Given the description of an element on the screen output the (x, y) to click on. 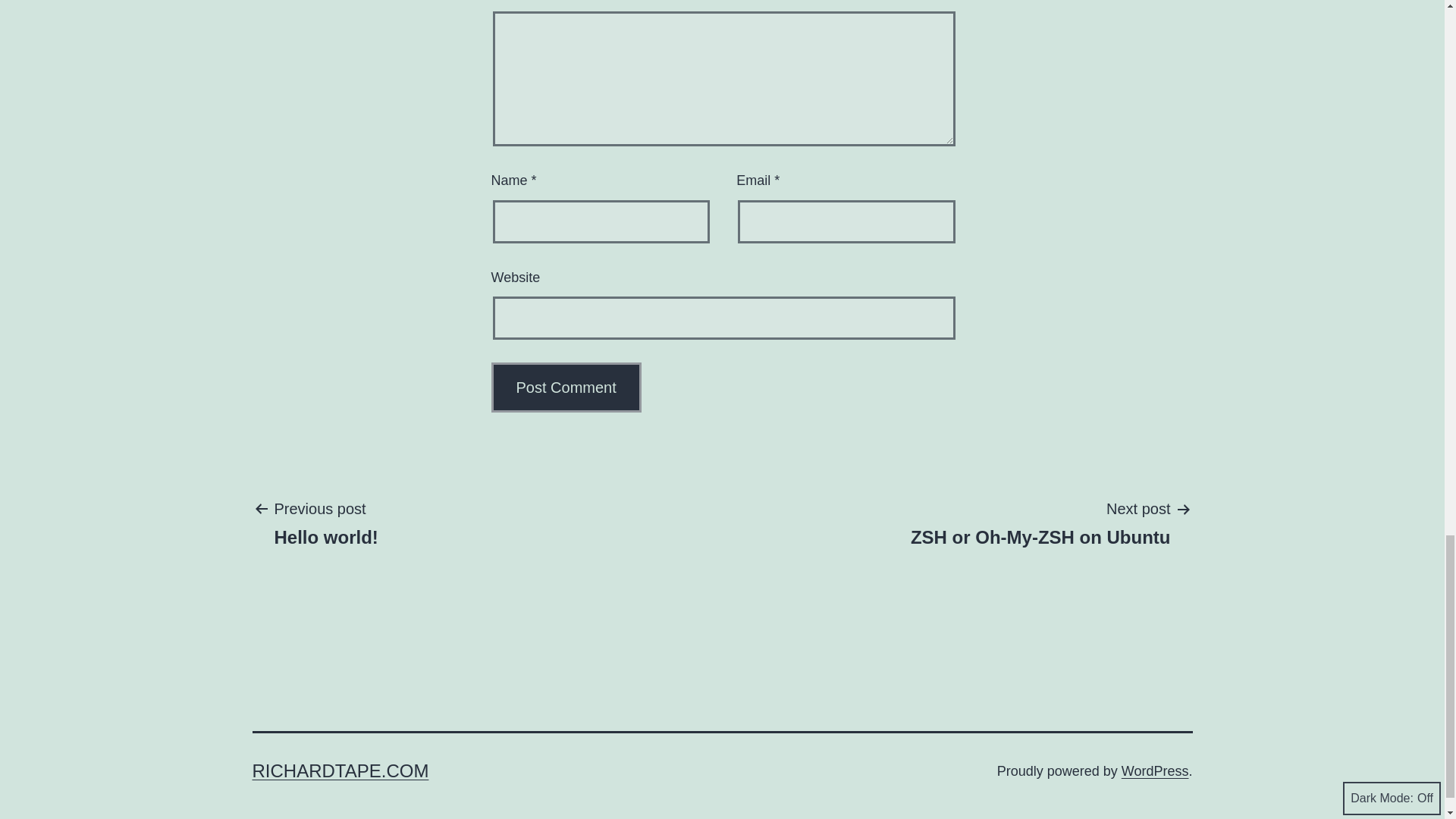
Post Comment (567, 387)
WordPress (1155, 770)
RICHARDTAPE.COM (1040, 522)
Post Comment (339, 770)
